Given the description of an element on the screen output the (x, y) to click on. 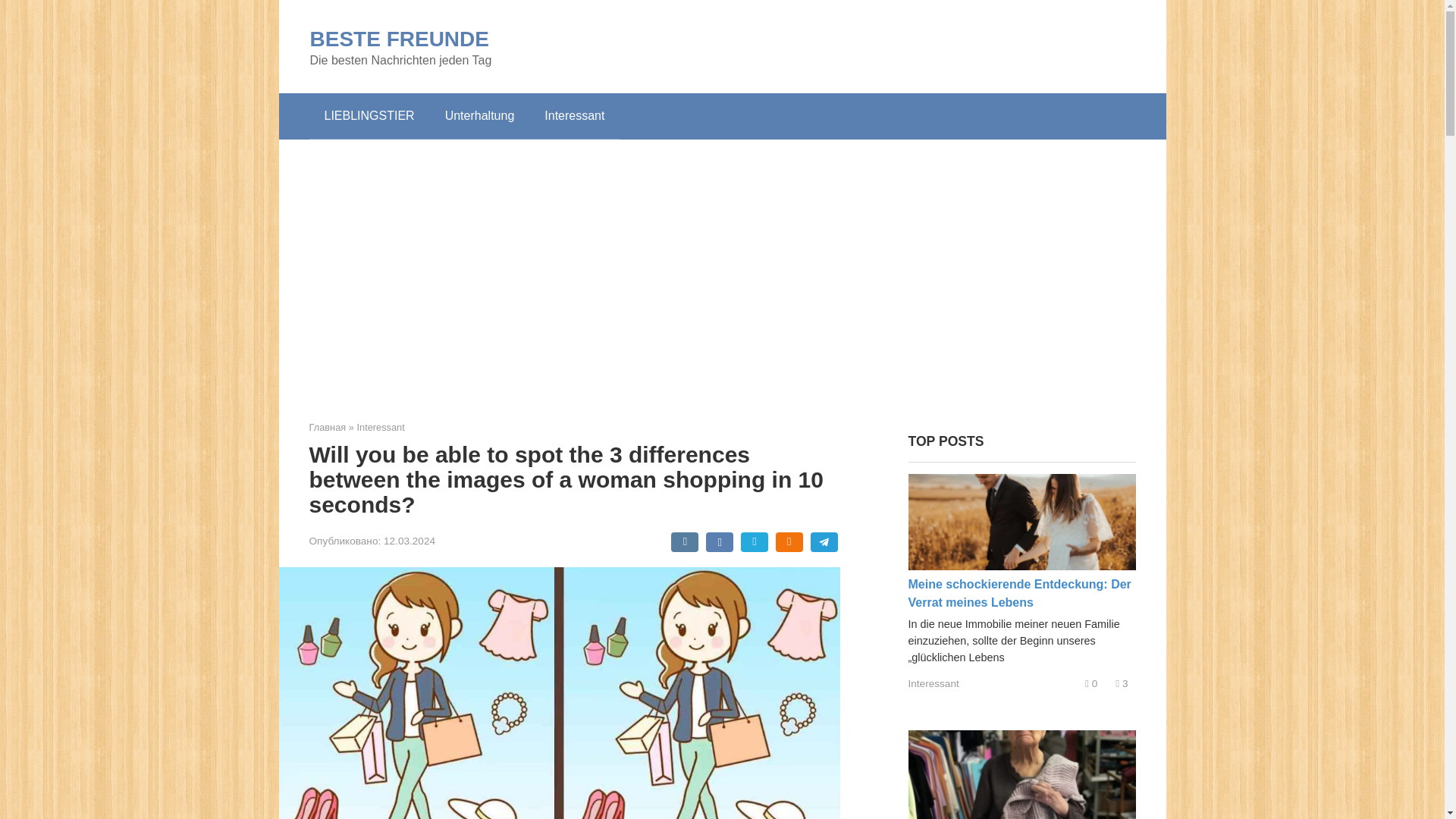
Unterhaltung (479, 115)
BESTE FREUNDE (397, 38)
Interessant (574, 115)
Interessant (380, 427)
Interessant (933, 683)
Meine schockierende Entdeckung: Der Verrat meines Lebens (1019, 593)
LIEBLINGSTIER (368, 115)
